Given the description of an element on the screen output the (x, y) to click on. 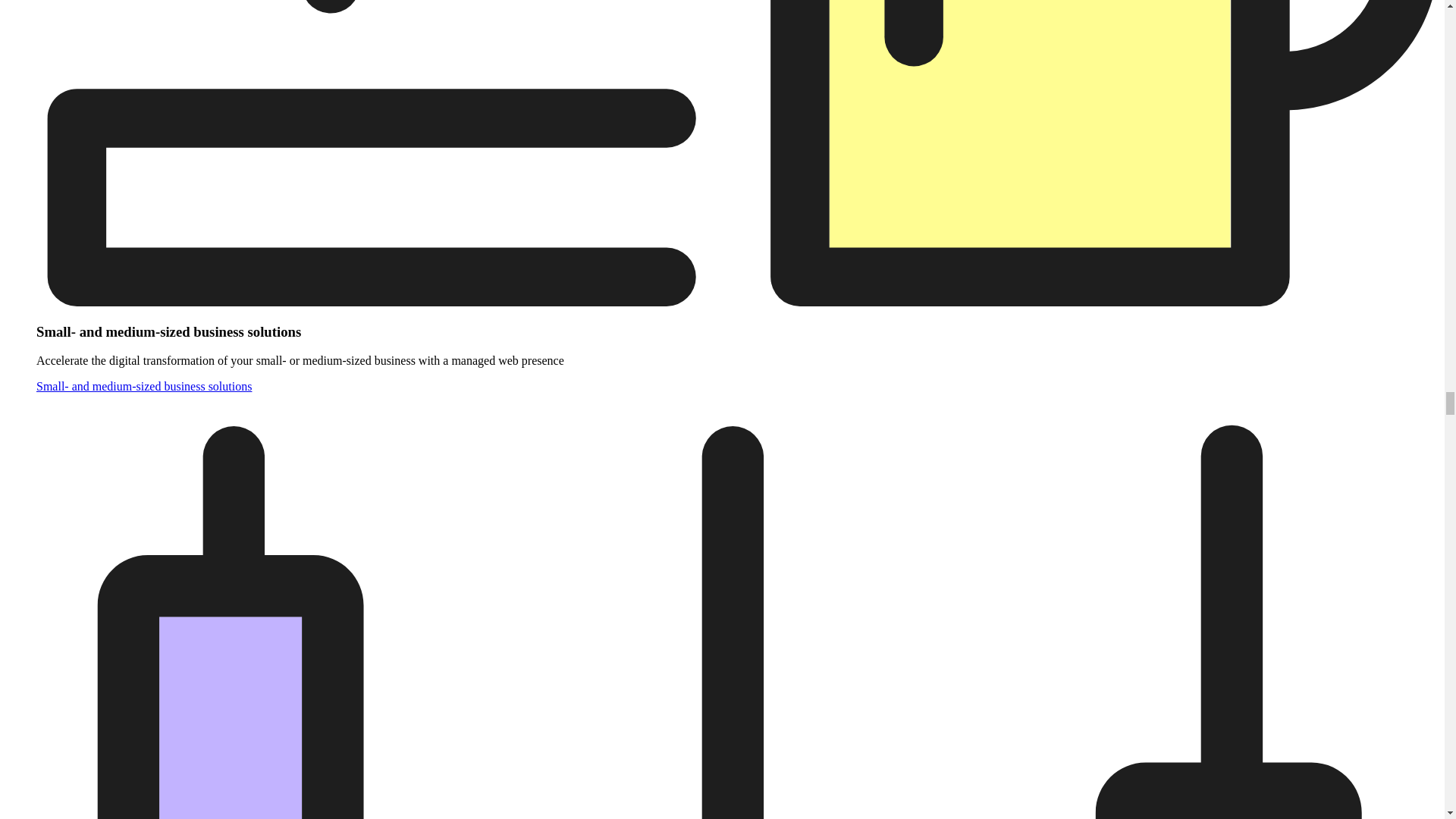
Small- and medium-sized business solutions (143, 386)
